Given the description of an element on the screen output the (x, y) to click on. 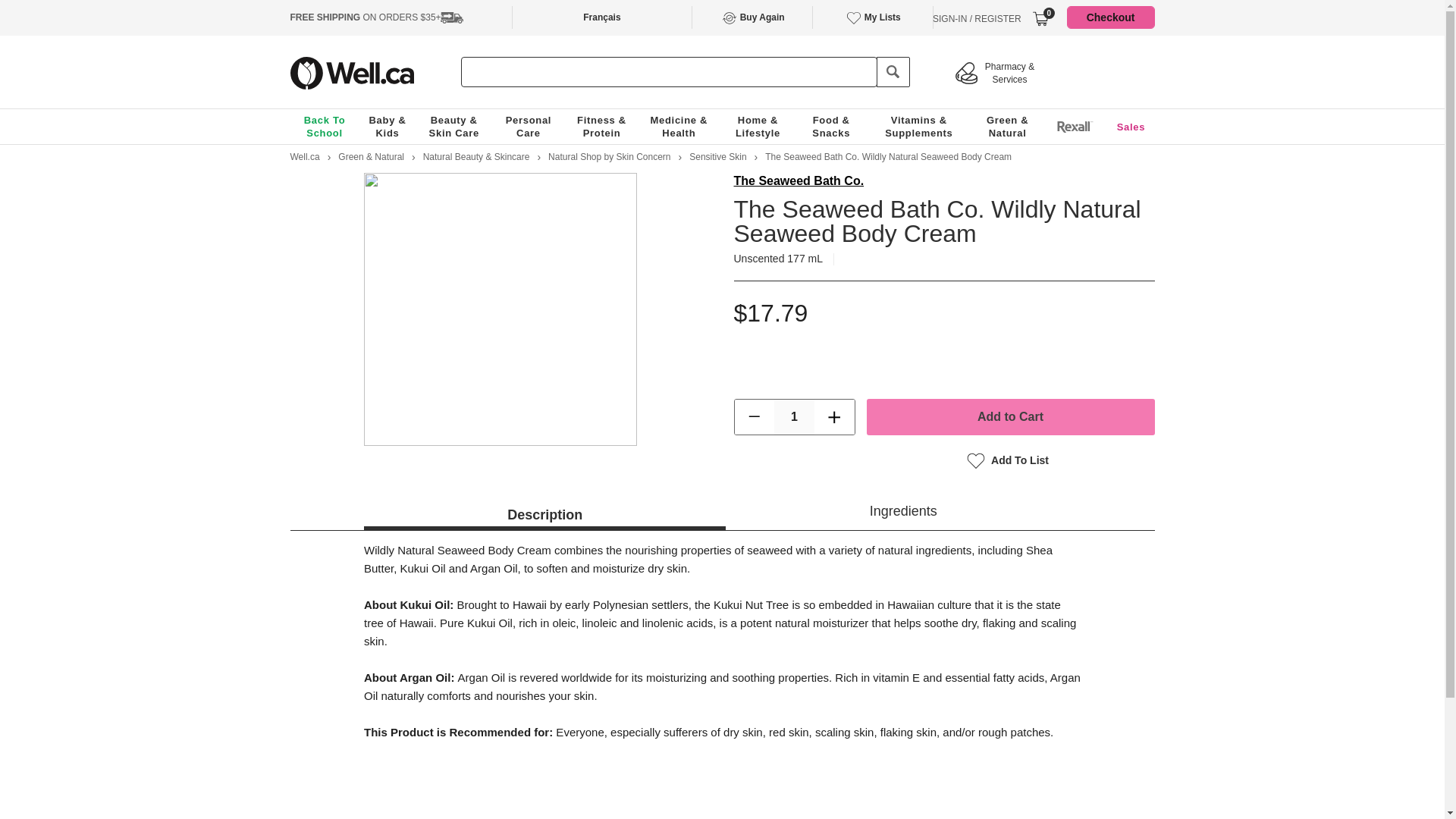
1 (793, 416)
Buy Again (752, 16)
Add to Cart (1010, 416)
0 (1040, 17)
My Lists (872, 16)
Checkout (1110, 16)
Back To School (324, 126)
